Given the description of an element on the screen output the (x, y) to click on. 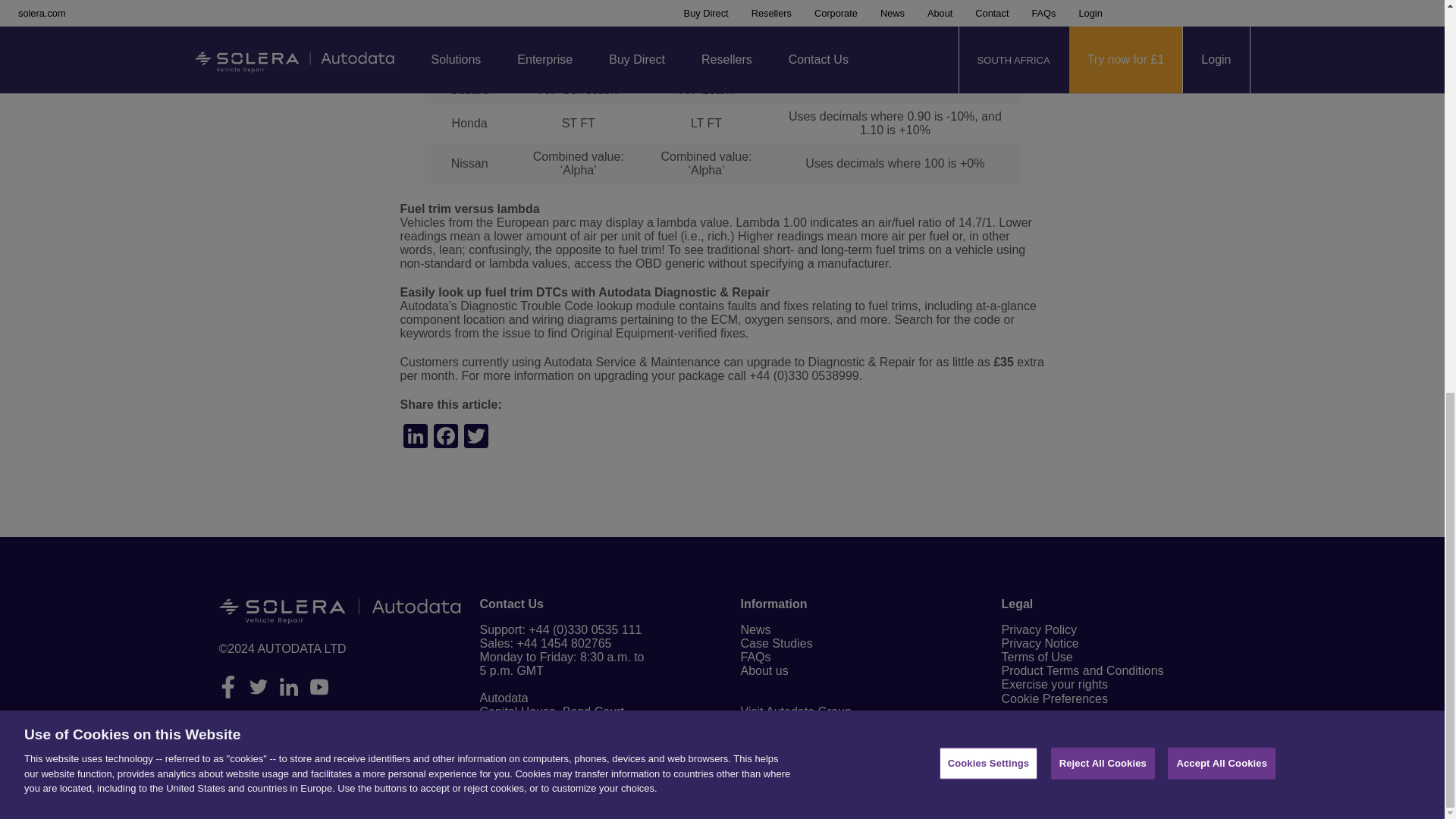
Facebook (445, 438)
Twitter (476, 438)
LinkedIn (415, 438)
